Given the description of an element on the screen output the (x, y) to click on. 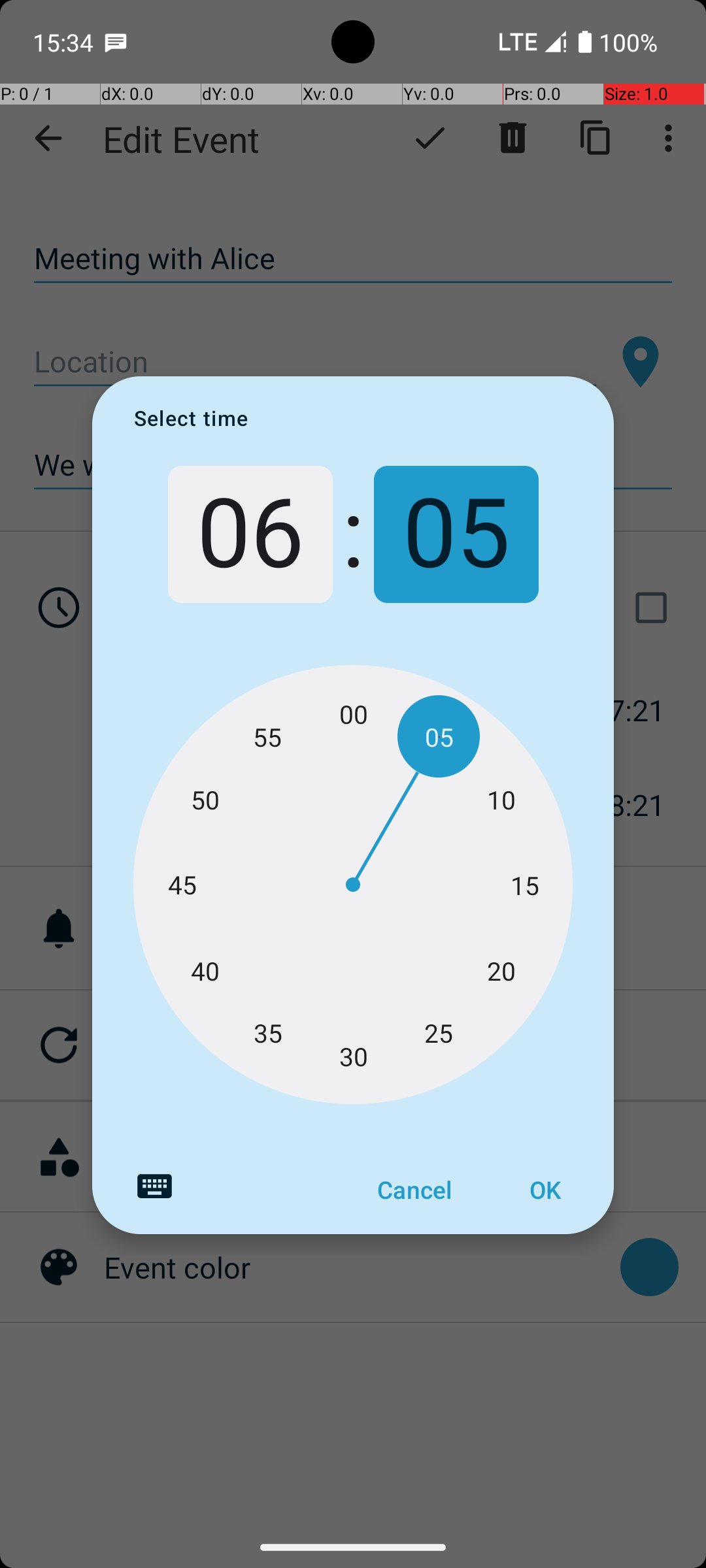
06 Element type: android.view.View (250, 534)
